Given the description of an element on the screen output the (x, y) to click on. 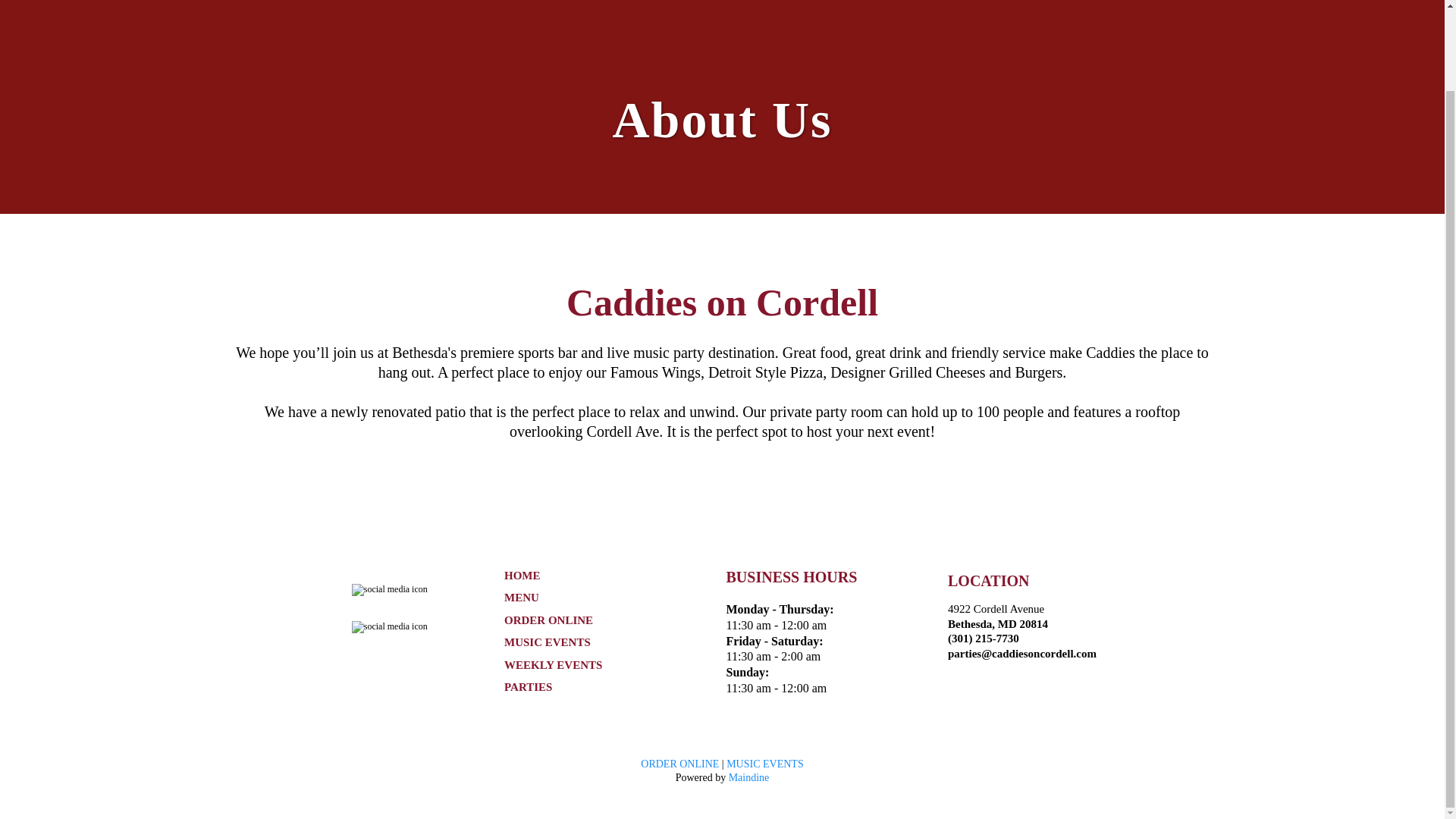
MENU (520, 597)
MUSIC EVENTS (764, 763)
Maindine (749, 777)
MORE INFO (411, 2)
HOME (521, 575)
ORDER ONLINE (679, 763)
MUSIC EVENTS (547, 642)
ORDER ONLINE (547, 620)
PARTIES (527, 686)
WEEKLY EVENTS (552, 664)
